Given the description of an element on the screen output the (x, y) to click on. 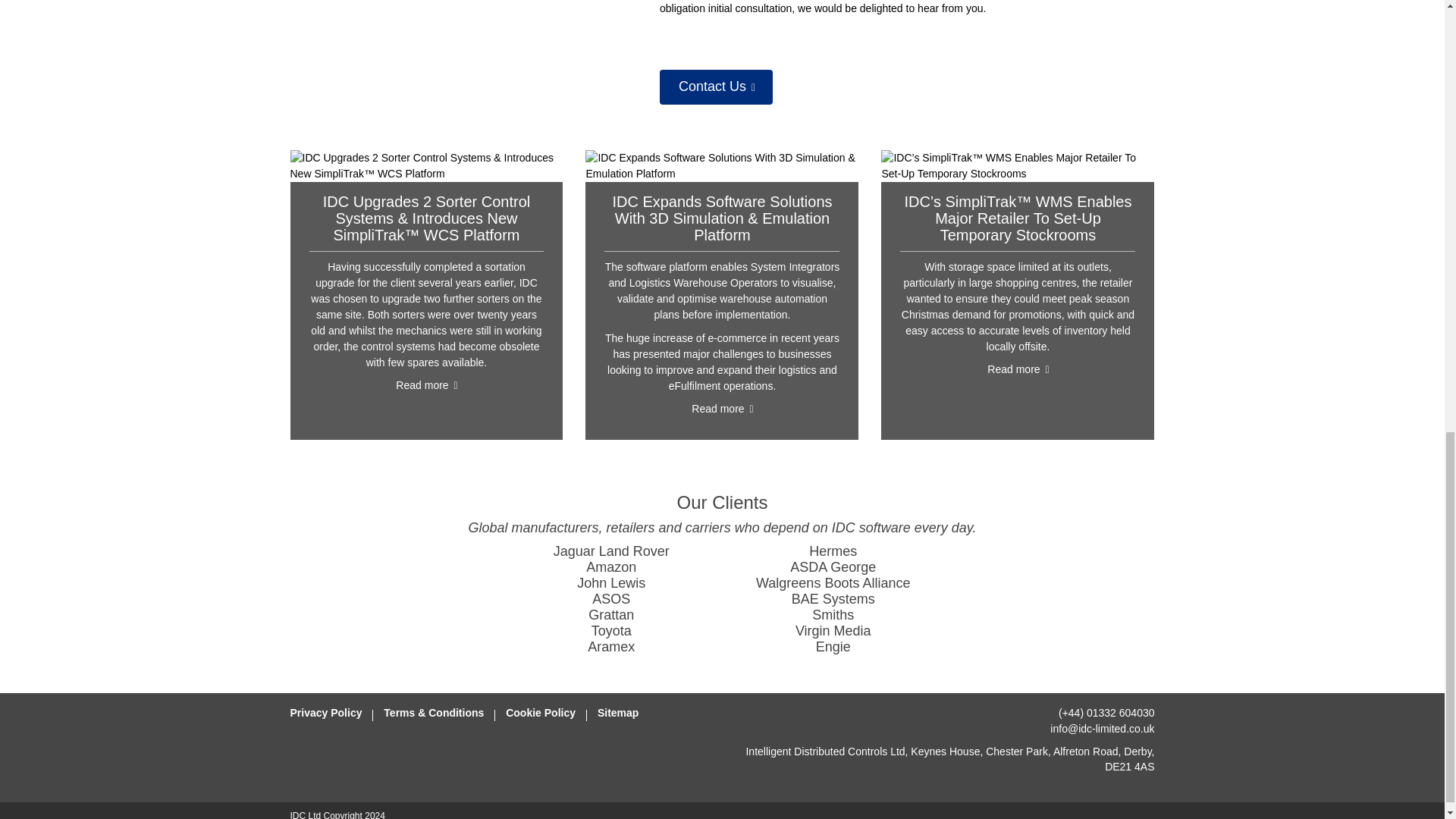
Contact Us (716, 86)
Read more (1017, 370)
Read more (425, 386)
Privacy Policy (325, 712)
Read more (721, 410)
